Given the description of an element on the screen output the (x, y) to click on. 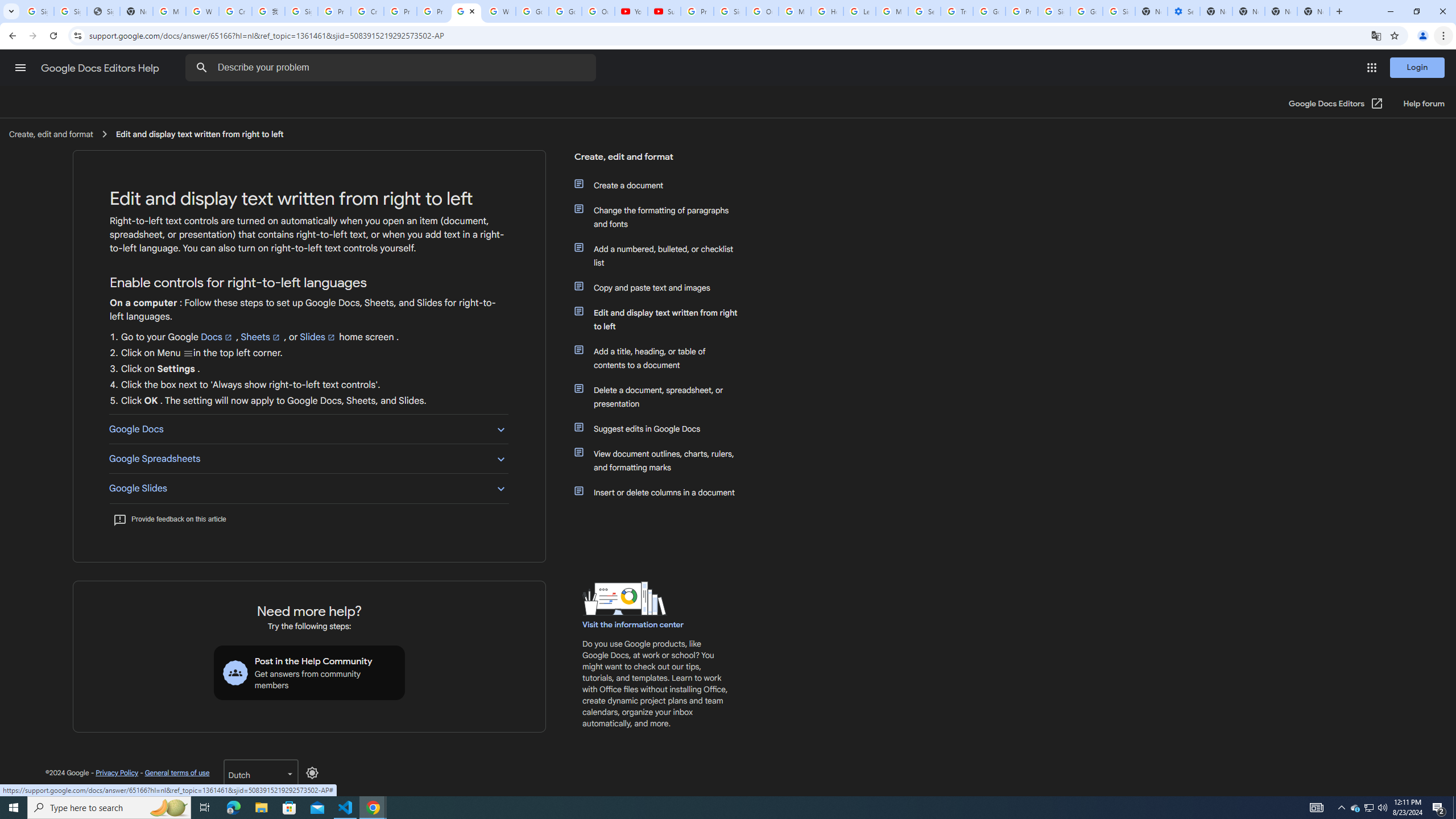
Sign in - Google Accounts (1118, 11)
Translate this page (1376, 35)
Edit and view right-to-left text - Google Docs Editors Help (465, 11)
Google Docs Editors (Opens in new window) (1335, 103)
Sheets (261, 337)
Google Docs Editors Help (100, 68)
